Given the description of an element on the screen output the (x, y) to click on. 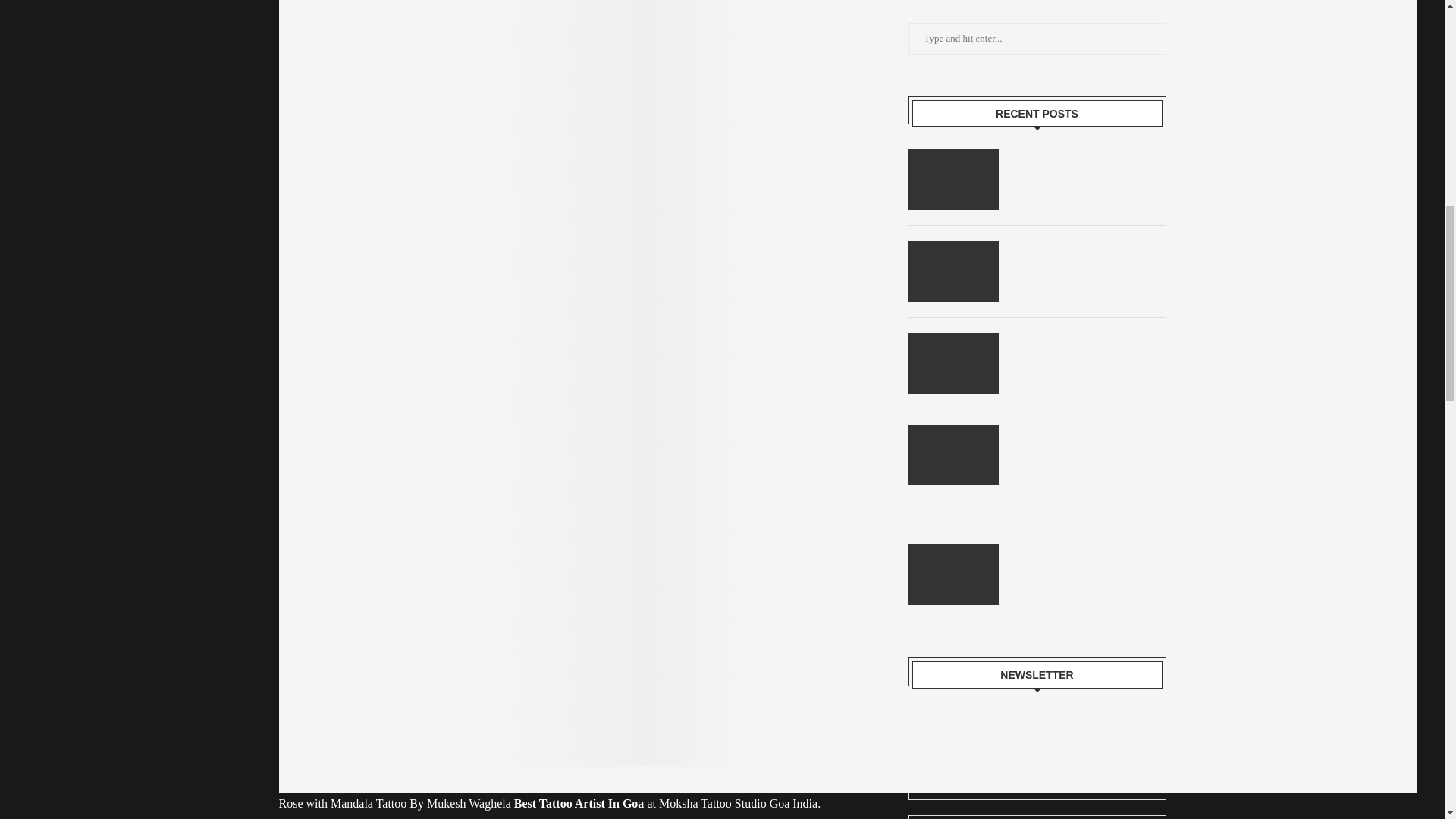
Exploring the Artistry: Elephant Tattoo by Mukesh Waghela (1090, 358)
Exploring the Artistry: Elephant Tattoo by Mukesh Waghela (953, 362)
Lotus Tattoo by Mukesh Waghela (953, 179)
Lotus Tattoo by Mukesh Waghela (1090, 166)
